Given the description of an element on the screen output the (x, y) to click on. 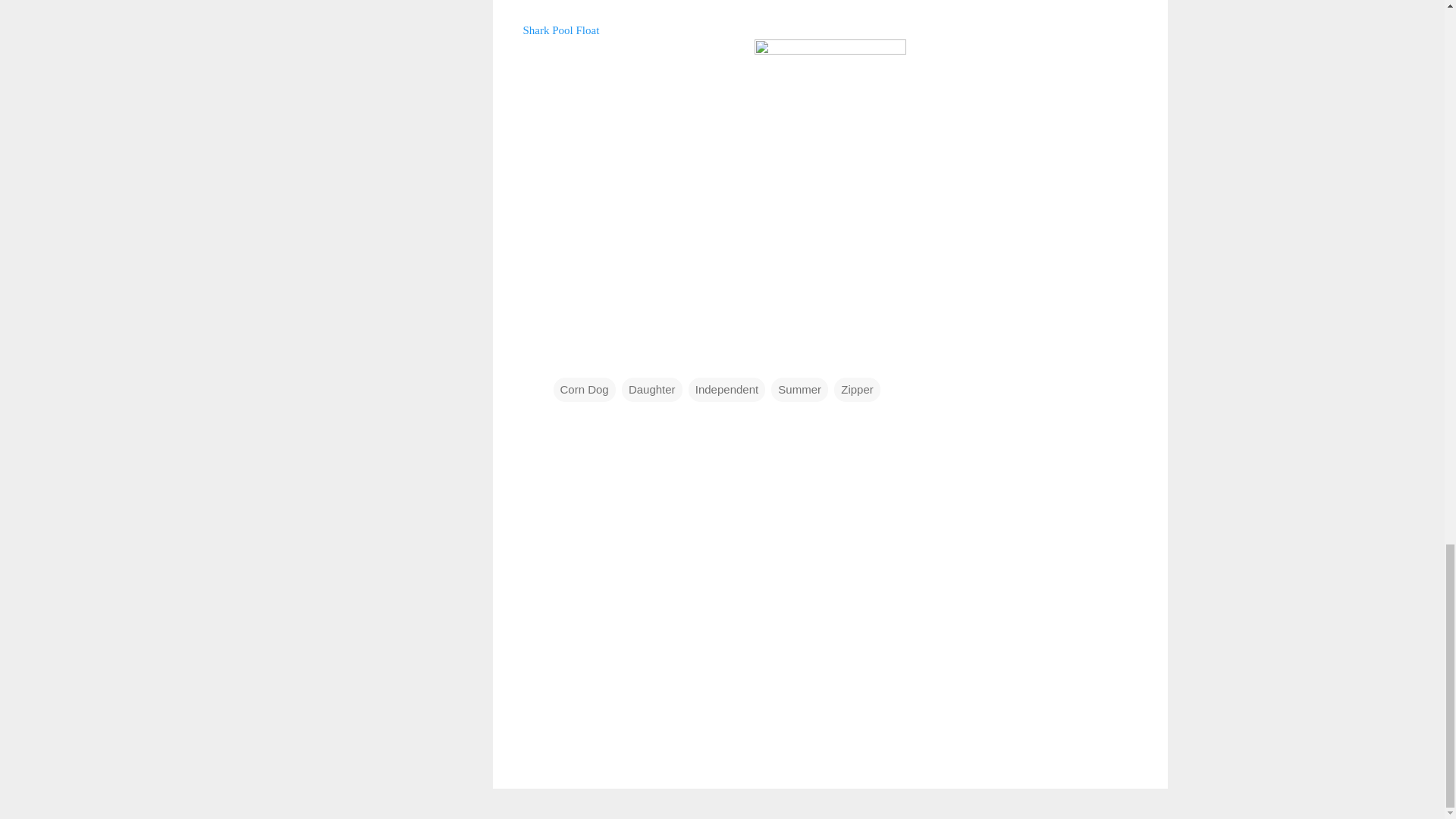
Zipper (857, 389)
Summer (799, 389)
Shark Pool Float (560, 29)
Independent (726, 389)
Corn Dog (584, 389)
Daughter (651, 389)
